Given the description of an element on the screen output the (x, y) to click on. 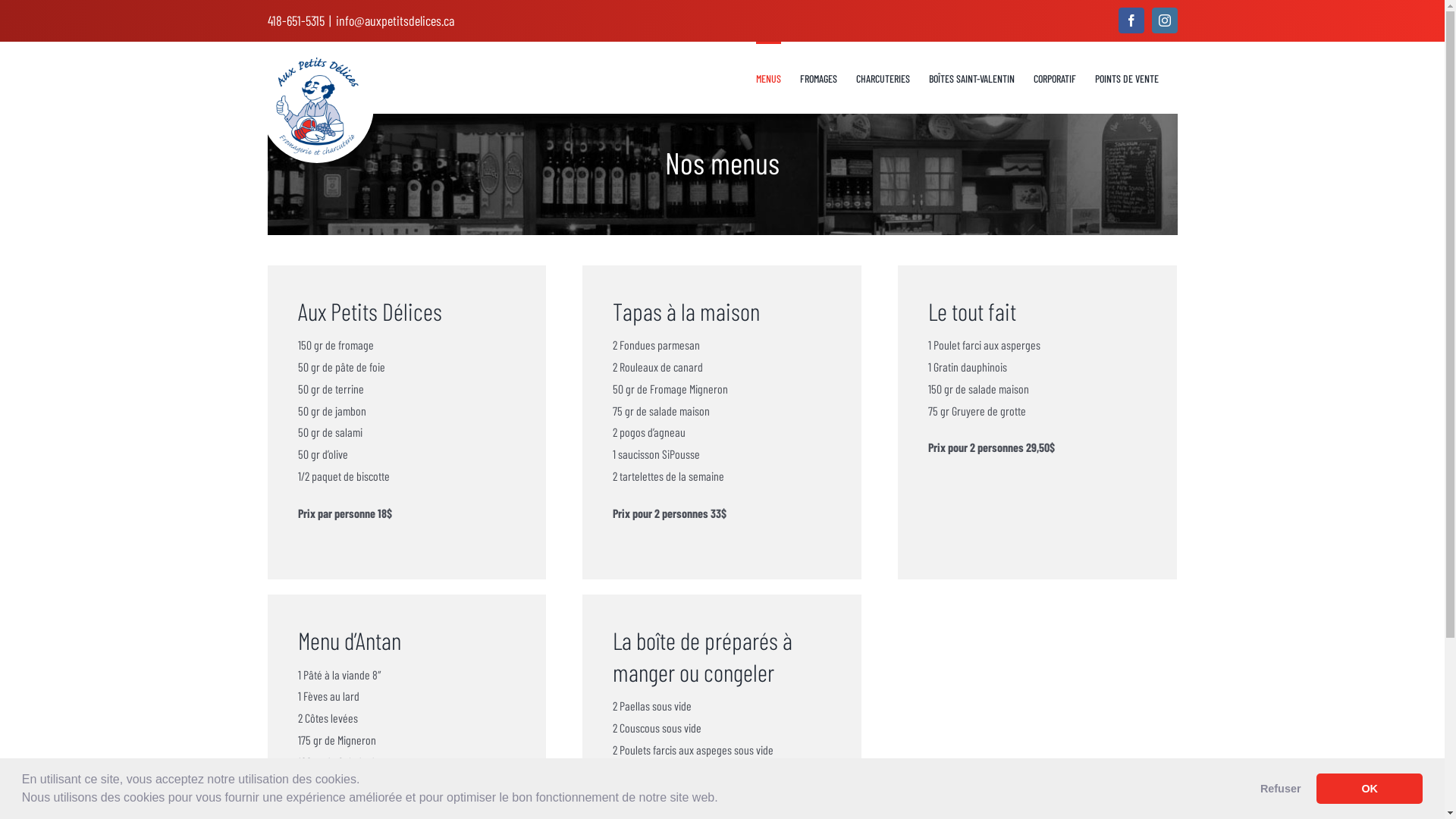
Refuser Element type: text (1280, 788)
FROMAGES Element type: text (817, 76)
CORPORATIF Element type: text (1053, 76)
info@auxpetitsdelices.ca Element type: text (394, 20)
facebook Element type: text (1130, 20)
instagram Element type: text (1163, 20)
MENUS Element type: text (767, 76)
OK Element type: text (1369, 788)
CHARCUTERIES Element type: text (882, 76)
POINTS DE VENTE Element type: text (1126, 76)
